Given the description of an element on the screen output the (x, y) to click on. 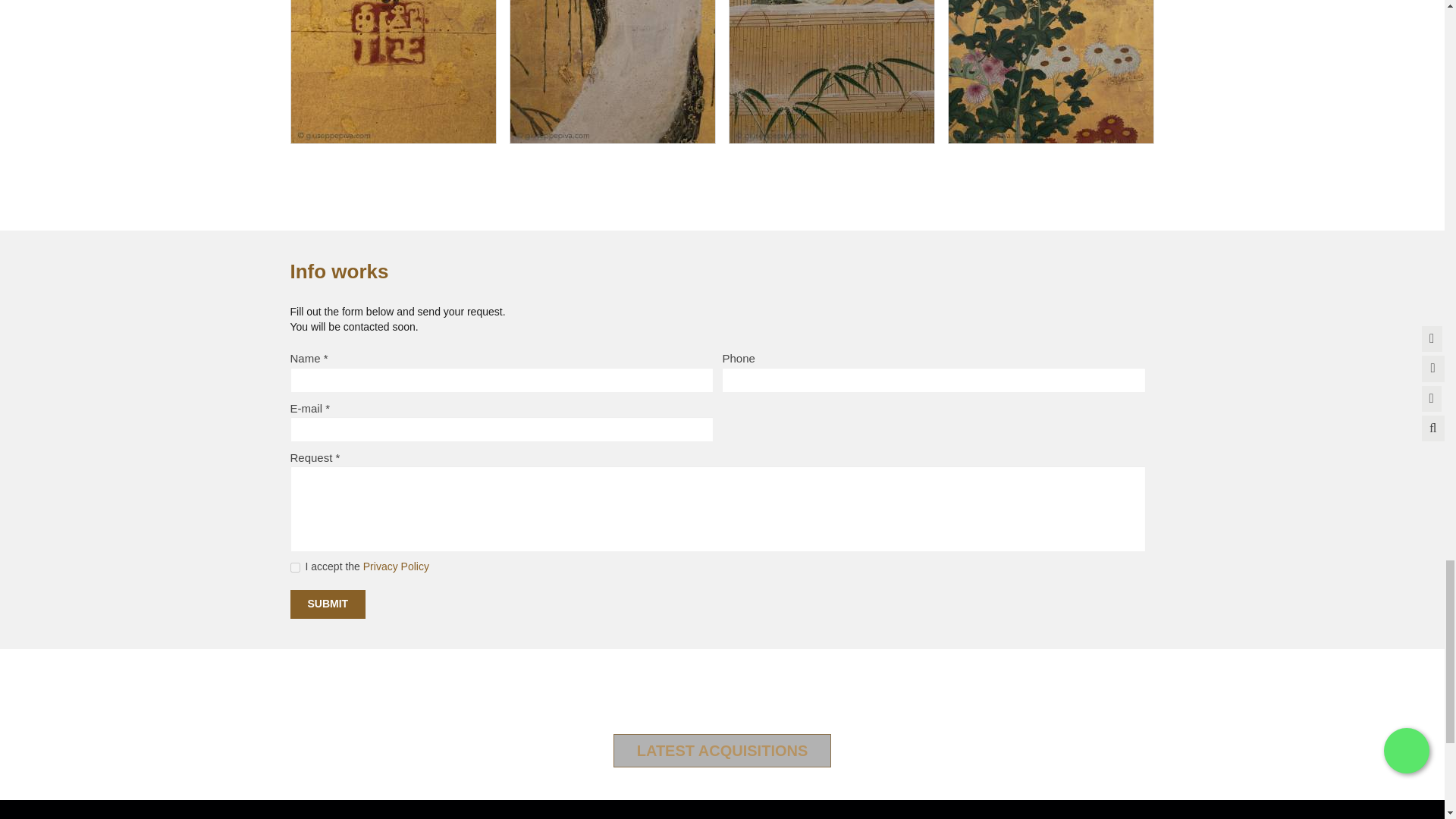
true (294, 567)
